Given the description of an element on the screen output the (x, y) to click on. 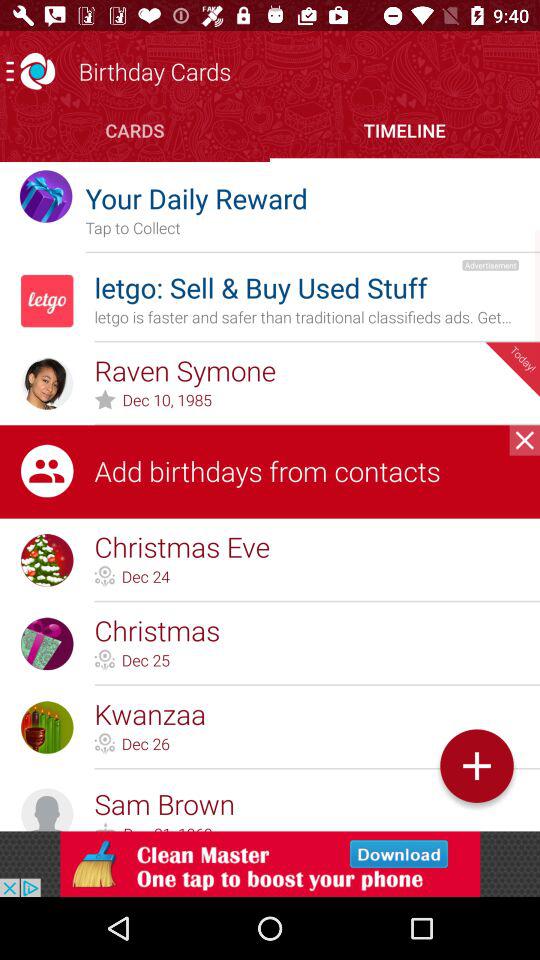
add symbol (476, 765)
